Given the description of an element on the screen output the (x, y) to click on. 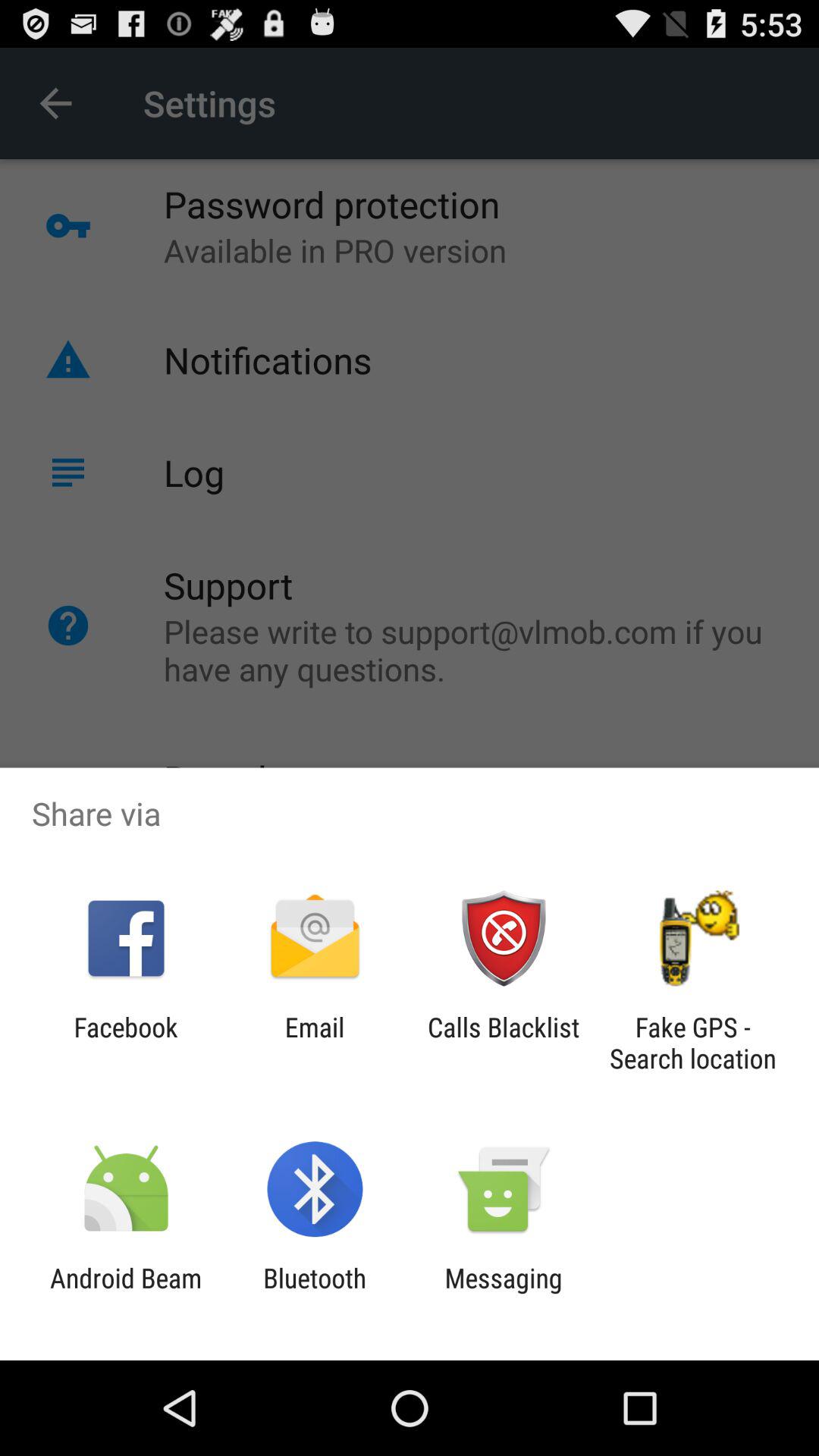
open email app (314, 1042)
